Given the description of an element on the screen output the (x, y) to click on. 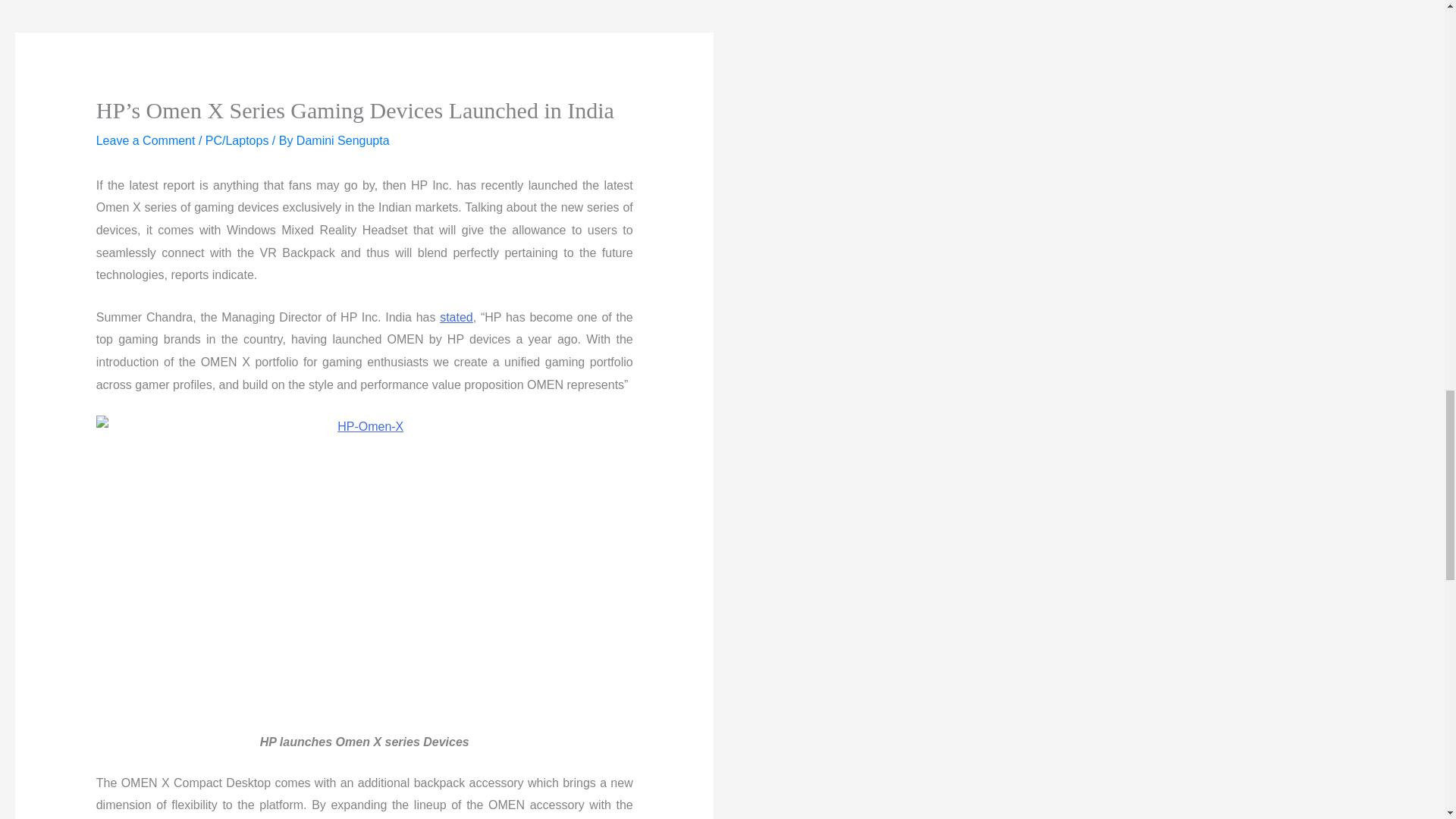
View all posts by Damini Sengupta (343, 140)
